Given the description of an element on the screen output the (x, y) to click on. 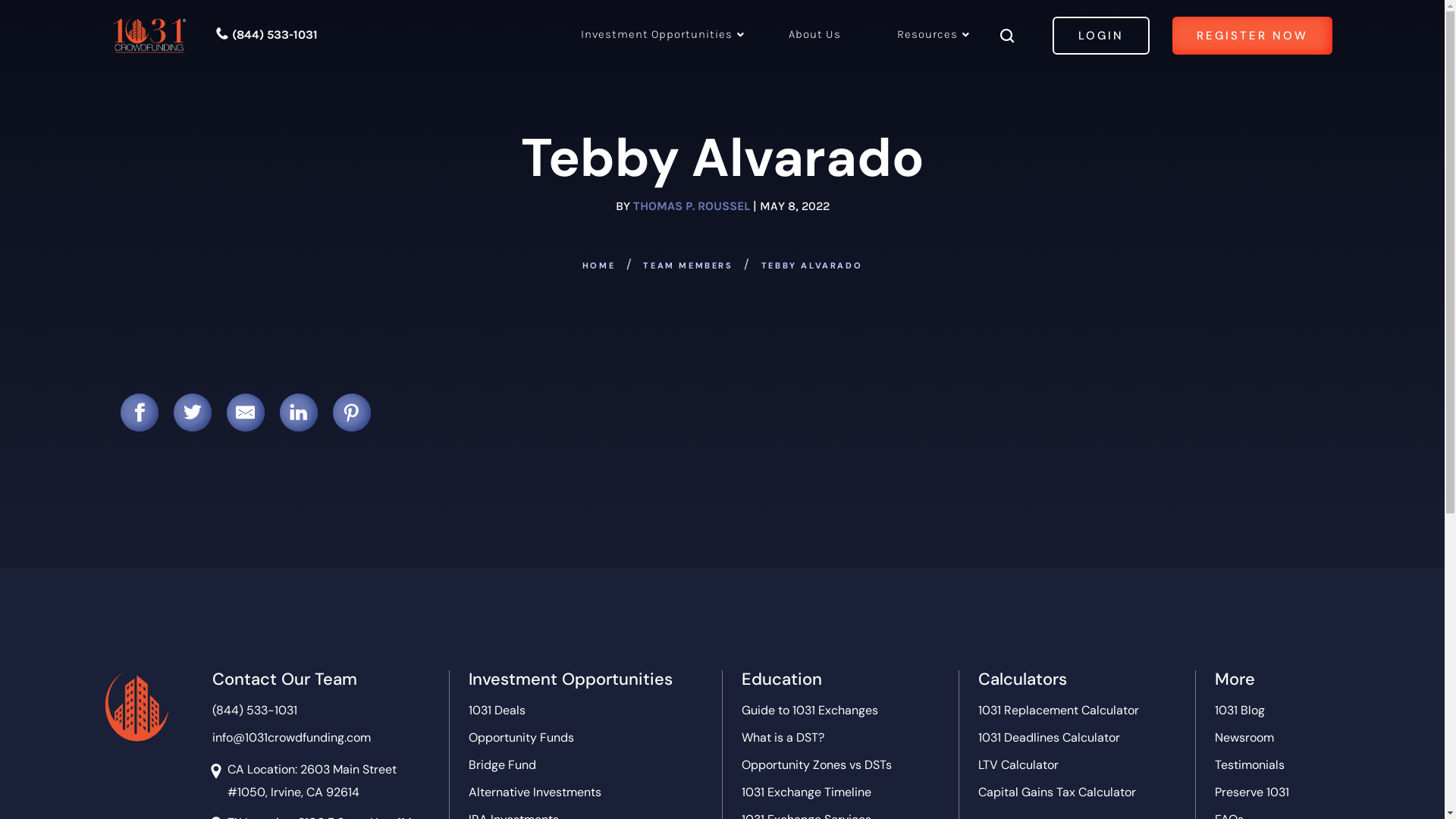
HOME Element type: text (598, 266)
1031 Blog Element type: text (1239, 710)
(844) 533-1031 Element type: text (265, 35)
1031 Deadlines Calculator Element type: text (1049, 737)
What is a DST? Element type: text (782, 737)
THOMAS P. ROUSSEL Element type: text (690, 206)
info@1031crowdfunding.com Element type: text (291, 737)
CA Location: 2603 Main Street
#1050, Irvine, CA 92614 Element type: text (311, 781)
LOGIN Element type: text (1100, 35)
(844) 533-1031 Element type: text (254, 710)
Testimonials Element type: text (1249, 765)
Bridge Fund Element type: text (502, 765)
About Us Element type: text (814, 38)
Guide to 1031 Exchanges Element type: text (809, 710)
Preserve 1031 Element type: text (1251, 792)
Newsroom Element type: text (1244, 737)
TEAM MEMBERS Element type: text (687, 266)
1031 Replacement Calculator Element type: text (1058, 710)
REGISTER NOW Element type: text (1252, 35)
LTV Calculator Element type: text (1018, 765)
Alternative Investments Element type: text (534, 792)
Opportunity Funds Element type: text (521, 737)
Capital Gains Tax Calculator Element type: text (1056, 792)
1031 Deals Element type: text (496, 710)
Resources Element type: text (926, 38)
Opportunity Zones vs DSTs Element type: text (816, 765)
1031 Exchange Timeline Element type: text (806, 792)
